Given the description of an element on the screen output the (x, y) to click on. 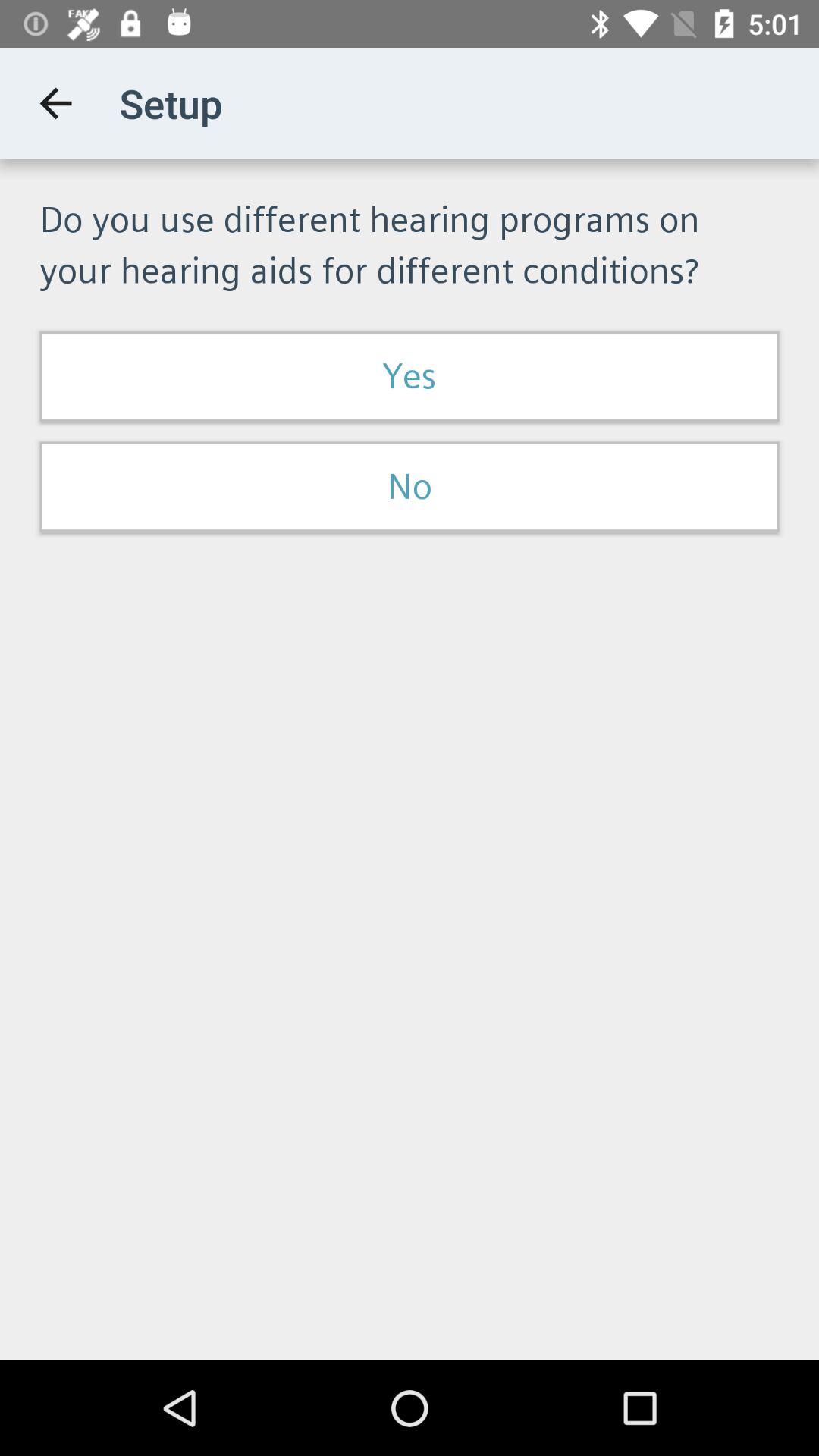
click item to the left of setup app (55, 103)
